Given the description of an element on the screen output the (x, y) to click on. 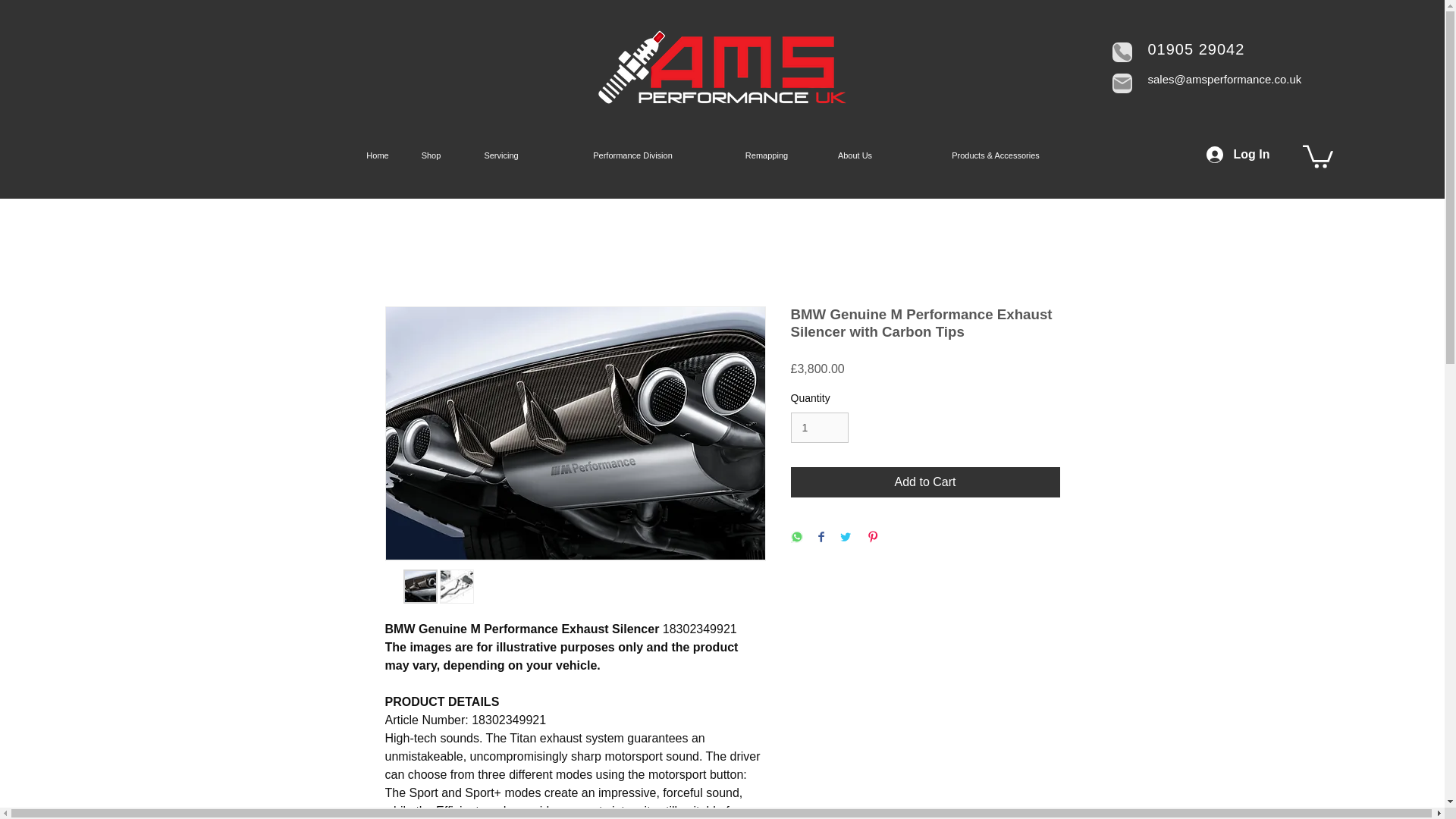
1 (818, 427)
Performance Division (632, 155)
Servicing (501, 155)
Home (377, 155)
About Us (855, 155)
Shop (431, 155)
Log In (1238, 154)
Add to Cart (924, 481)
Remapping (766, 155)
